Given the description of an element on the screen output the (x, y) to click on. 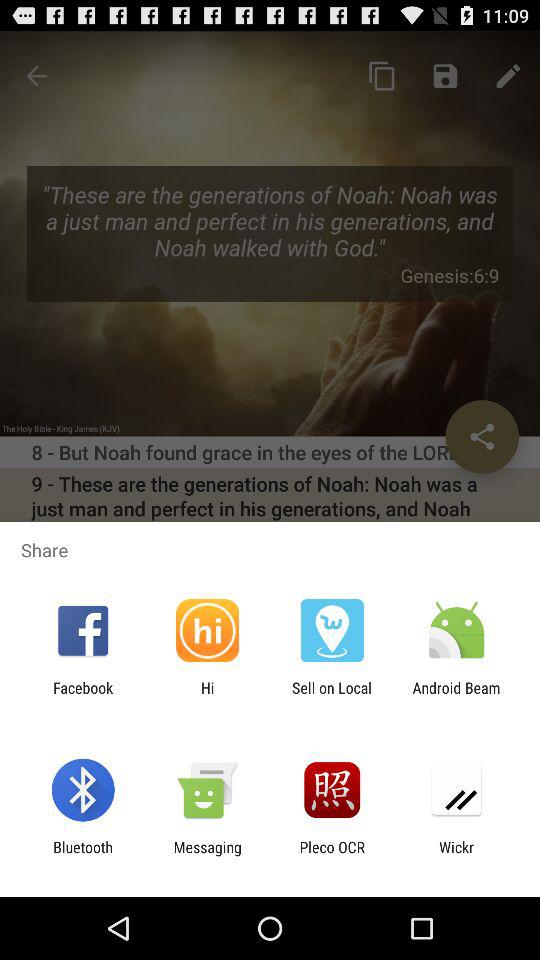
scroll to android beam item (456, 696)
